Given the description of an element on the screen output the (x, y) to click on. 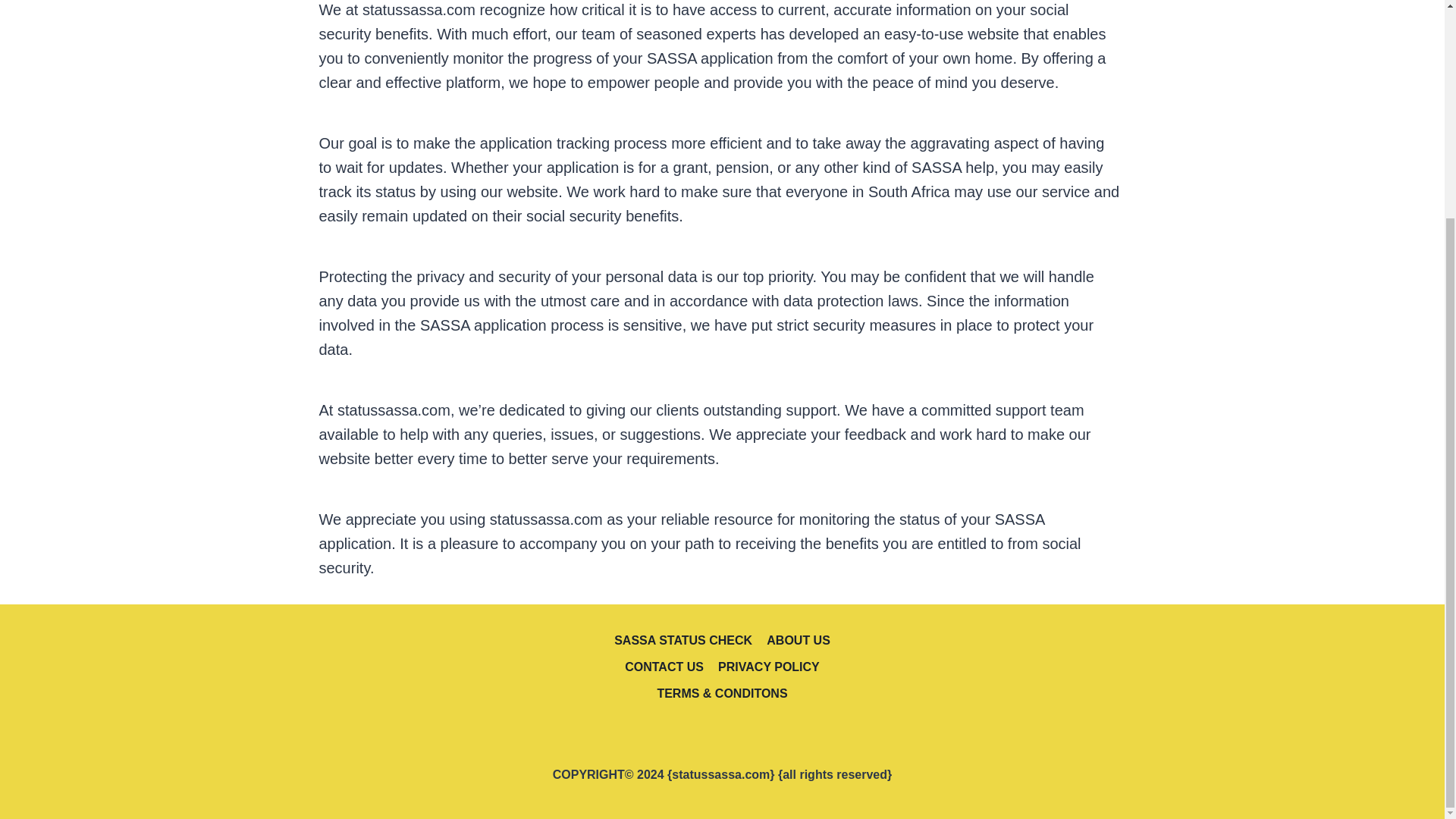
SASSA STATUS CHECK (683, 640)
ABOUT US (799, 640)
PRIVACY POLICY (769, 666)
CONTACT US (664, 666)
